Given the description of an element on the screen output the (x, y) to click on. 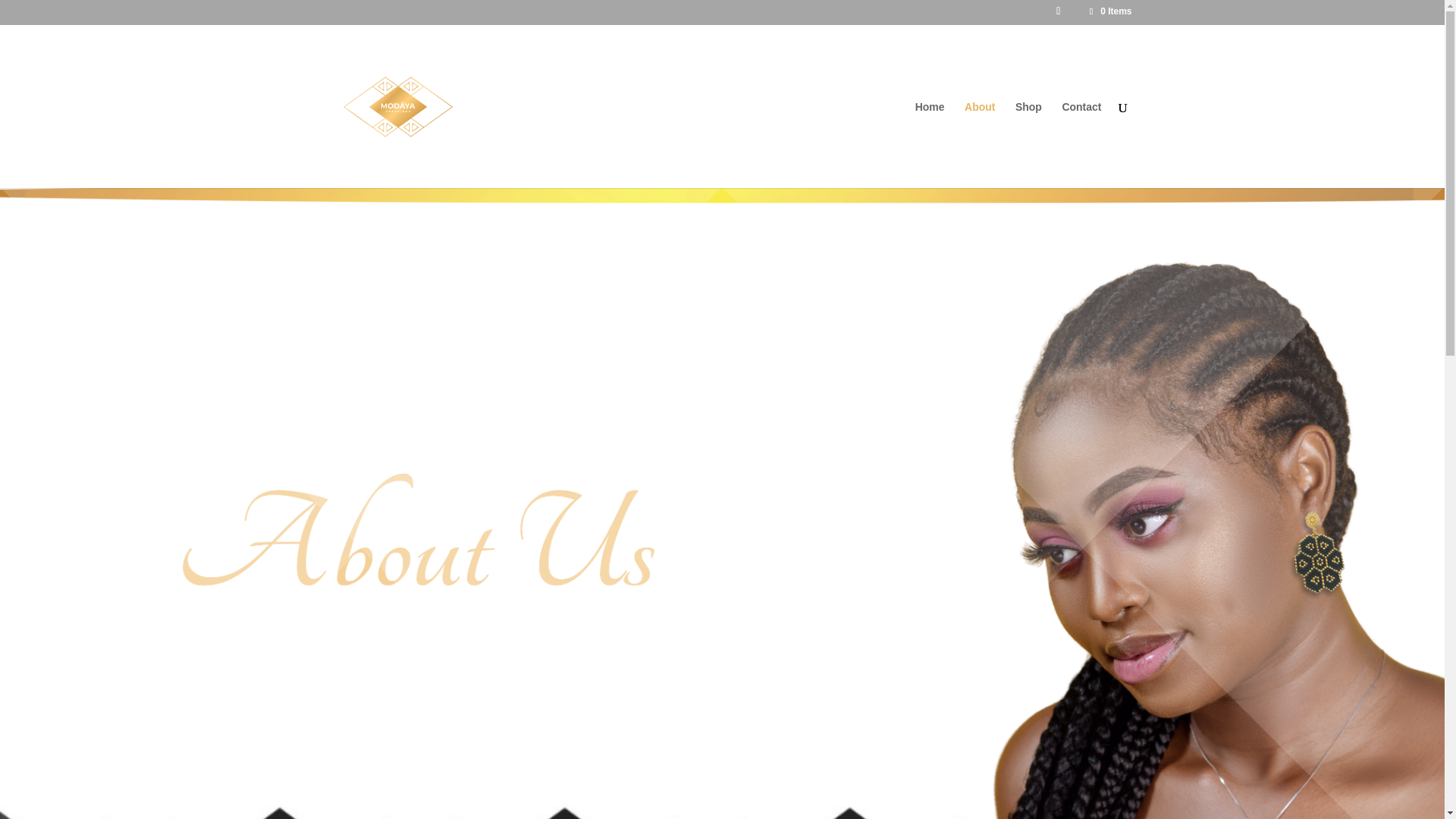
Shop (1028, 144)
About (978, 144)
Home (929, 144)
0 Items (1108, 10)
Contact (1080, 144)
